Given the description of an element on the screen output the (x, y) to click on. 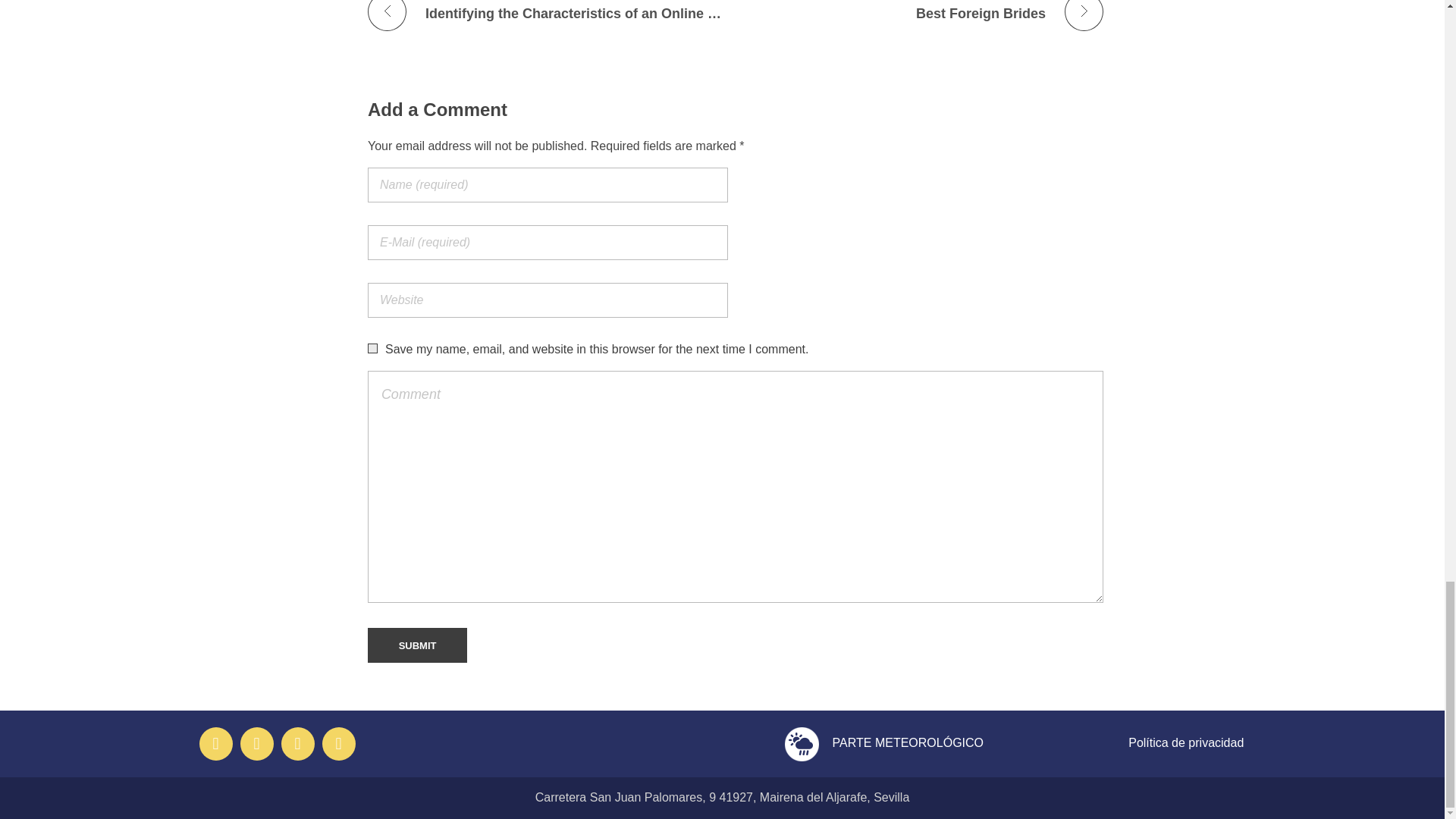
Submit (417, 645)
yes (372, 347)
